Given the description of an element on the screen output the (x, y) to click on. 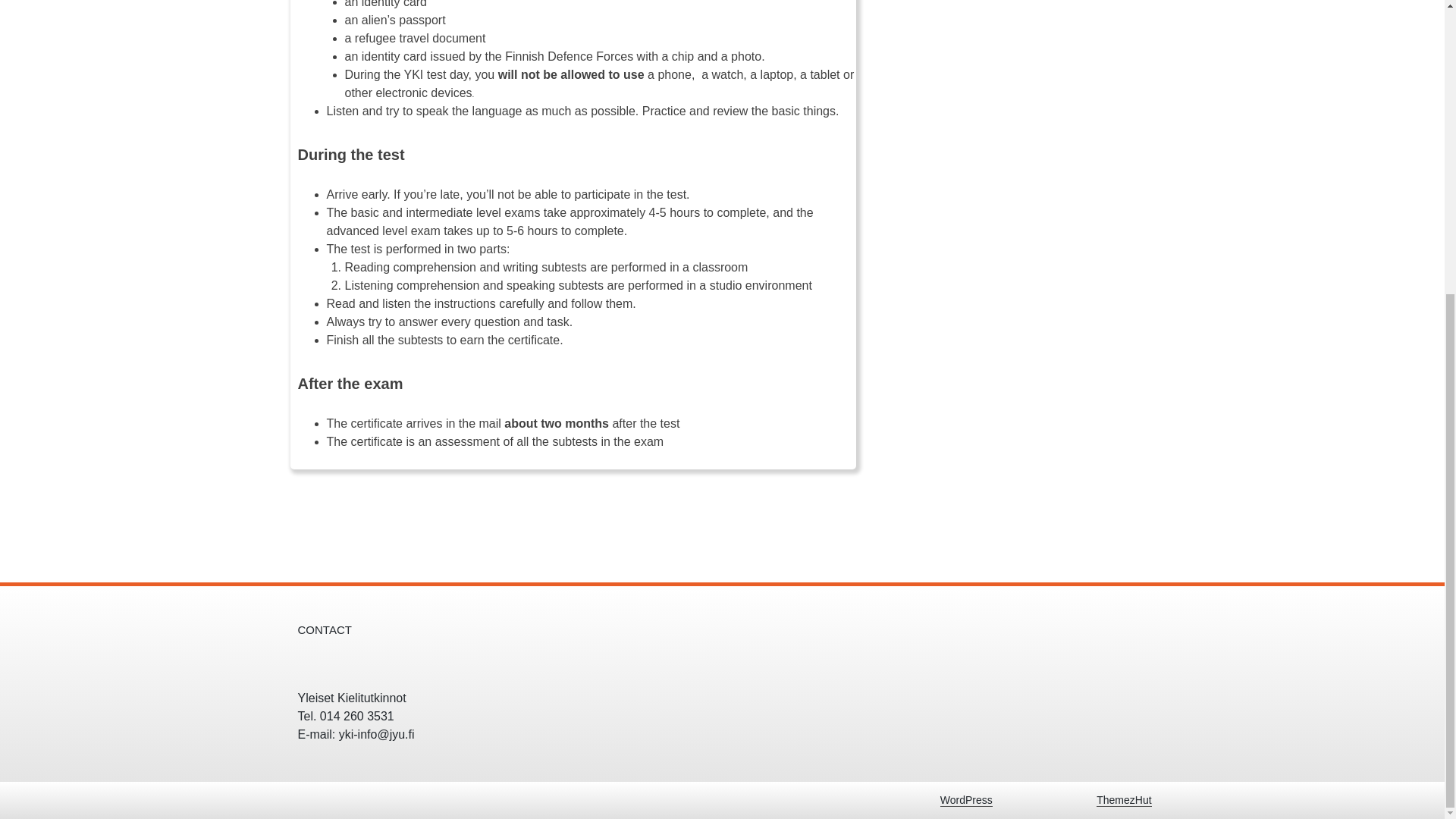
WordPress (966, 799)
ThemezHut (1123, 799)
WordPress (966, 799)
